Given the description of an element on the screen output the (x, y) to click on. 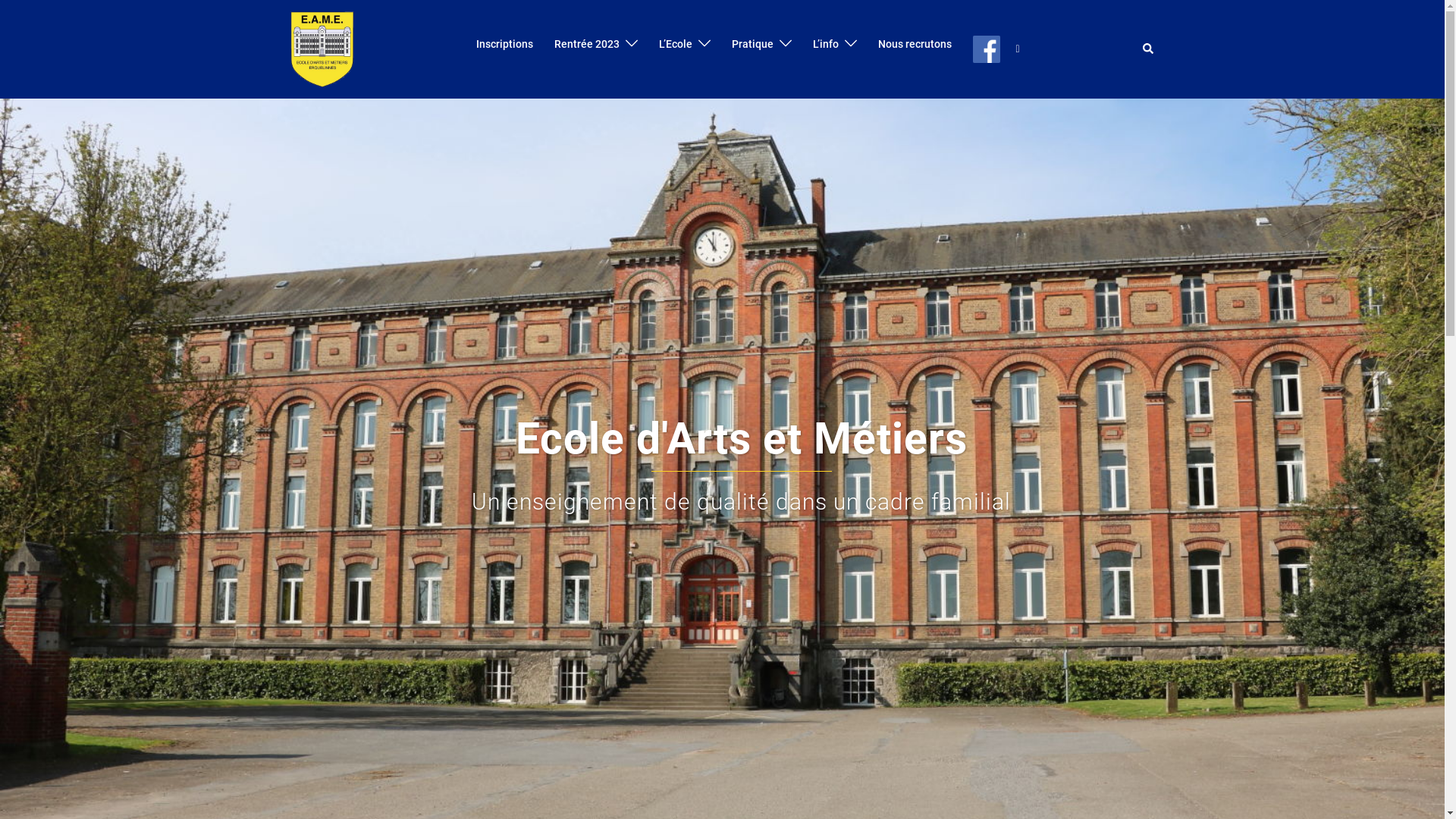
Inscriptions Element type: text (504, 44)
Pratique Element type: text (752, 44)
Nous recrutons Element type: text (914, 44)
